Given the description of an element on the screen output the (x, y) to click on. 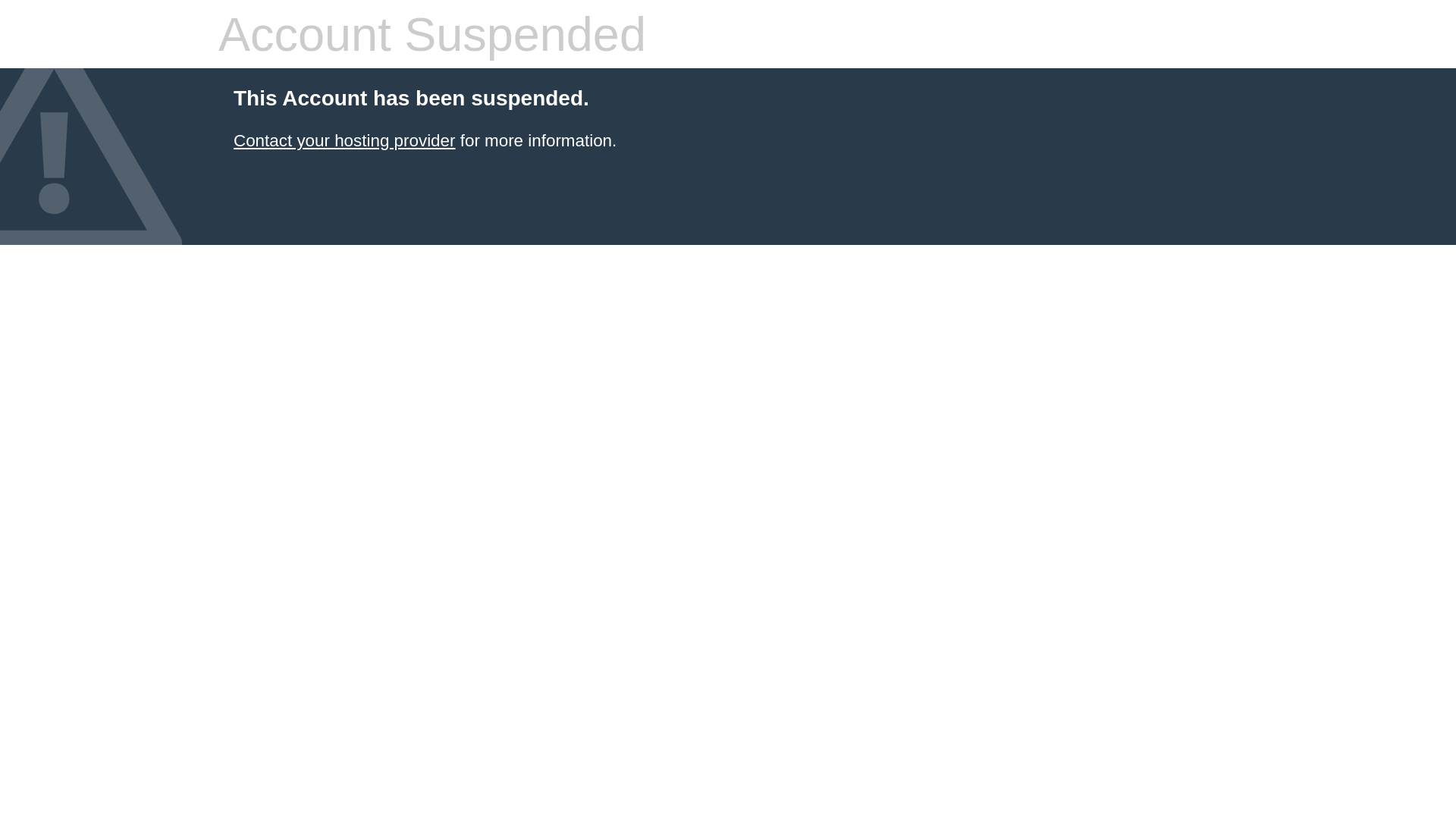
Contact your hosting provider Element type: text (344, 140)
